Given the description of an element on the screen output the (x, y) to click on. 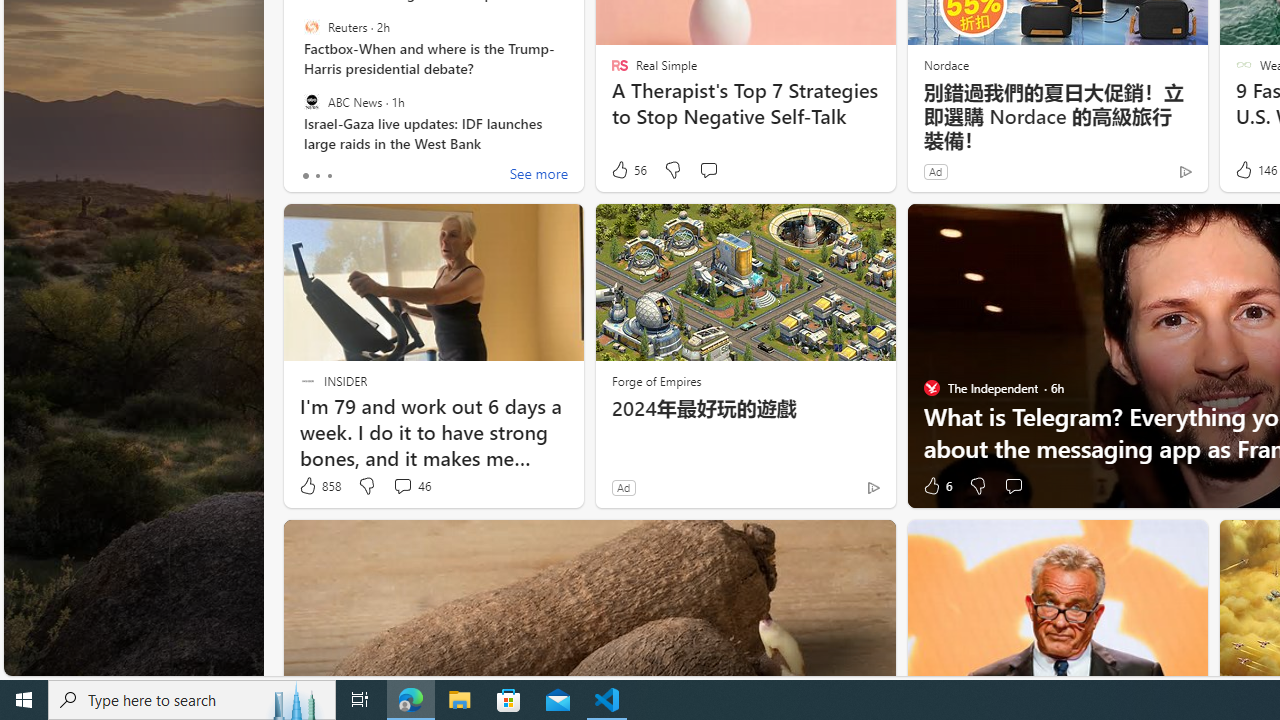
858 Like (319, 485)
Forge of Empires (655, 380)
View comments 46 Comment (411, 485)
Dislike (976, 485)
See more (538, 175)
Reuters (311, 27)
ABC News (311, 101)
